Given the description of an element on the screen output the (x, y) to click on. 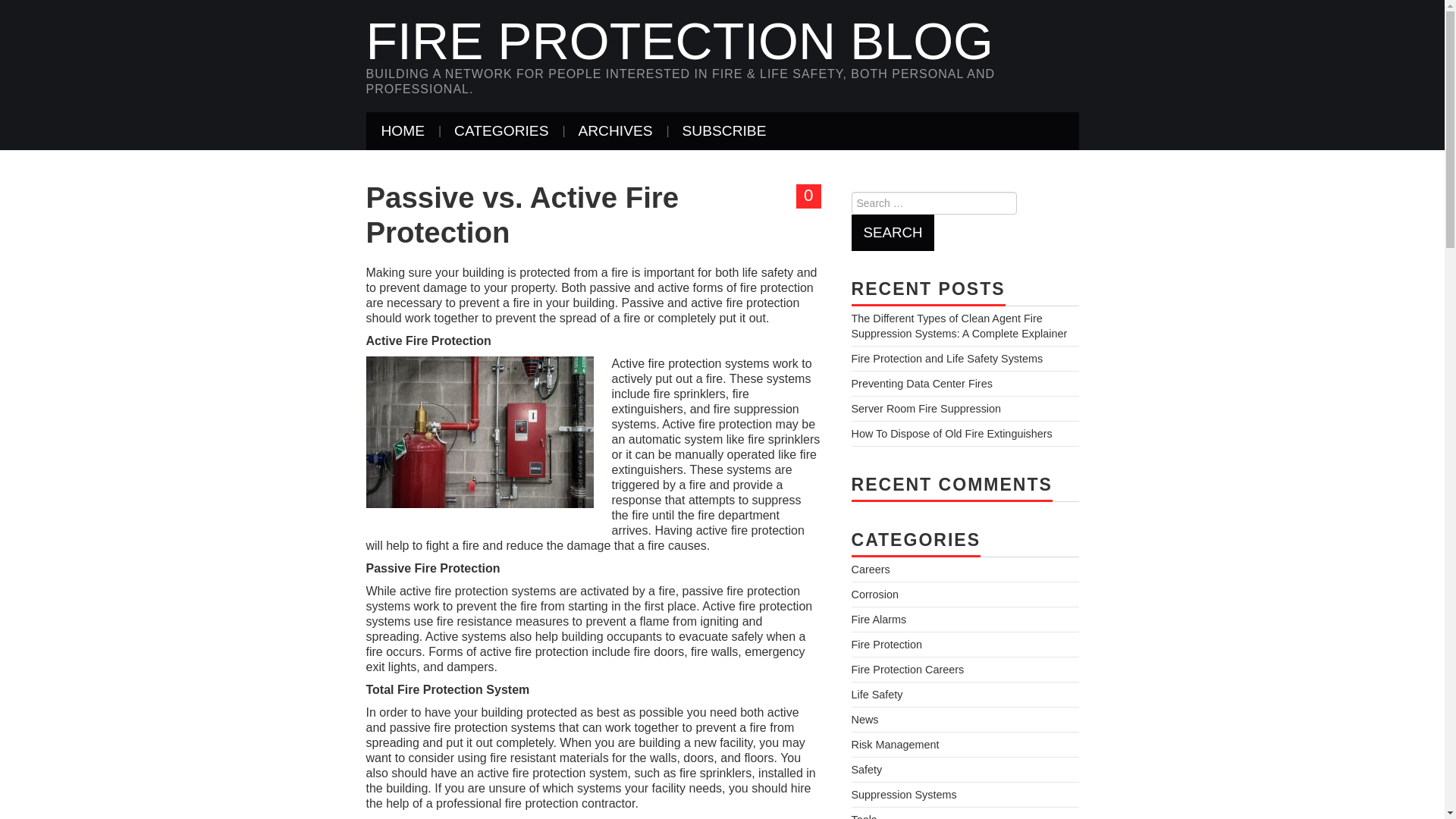
Fire Protection Careers (906, 669)
CATEGORIES (501, 130)
Fire Protection and Life Safety Systems (946, 358)
Fire Protection (885, 644)
0 (808, 196)
ARCHIVES (614, 130)
Fire Alarms (877, 619)
Search (892, 232)
Fire Protection Blog (678, 40)
Suppression Systems (903, 794)
SUBSCRIBE (723, 130)
Careers (869, 569)
HOME (402, 130)
Life Safety (876, 694)
Safety (866, 769)
